Given the description of an element on the screen output the (x, y) to click on. 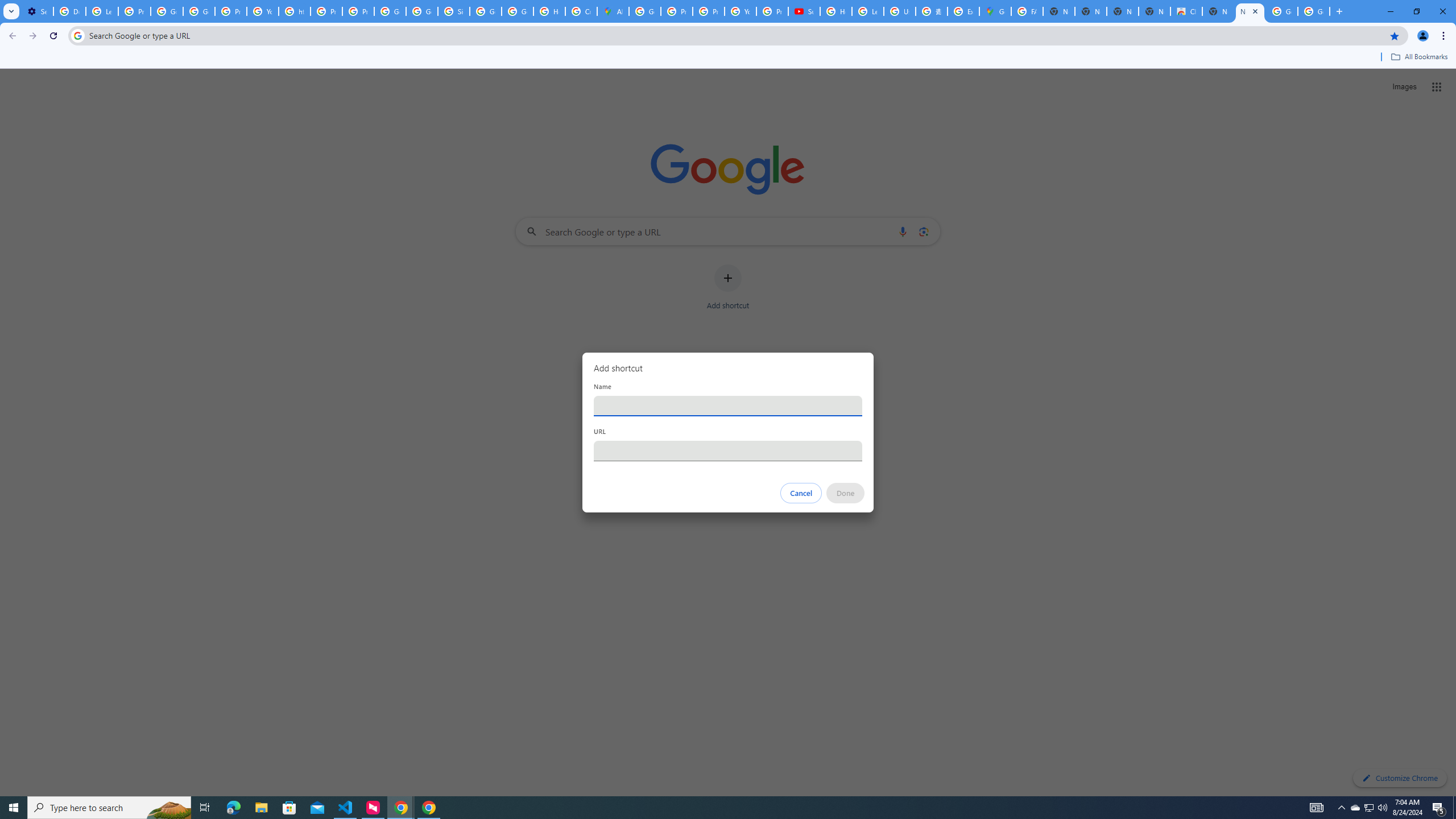
Subscriptions - YouTube (804, 11)
Google Images (1313, 11)
New Tab (1249, 11)
How Chrome protects your passwords - Google Chrome Help (836, 11)
